Given the description of an element on the screen output the (x, y) to click on. 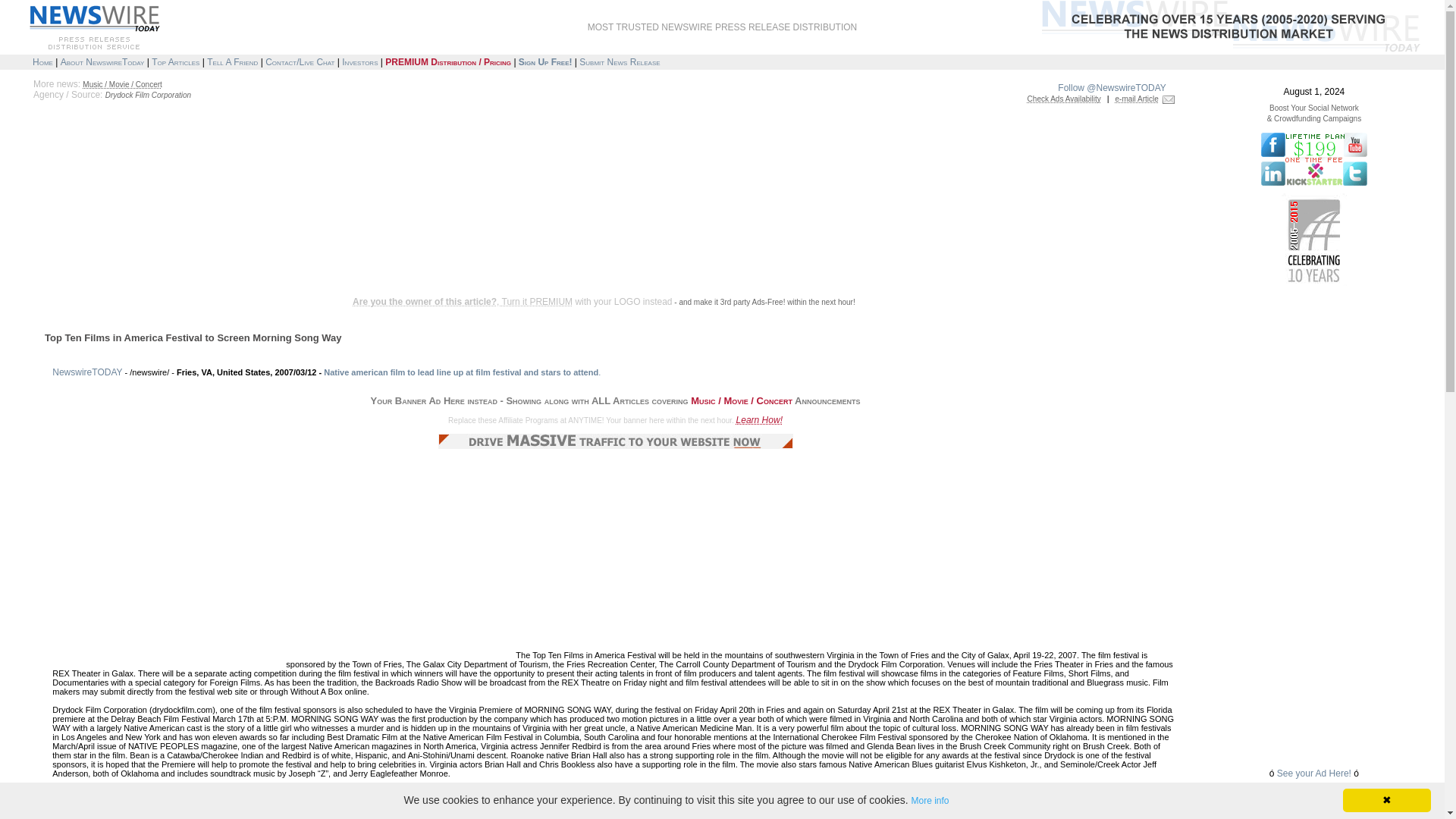
Home (42, 61)
About NewswireToday (102, 61)
About NewswireToday (102, 61)
Learn How! (759, 419)
NewswireToday Top Releases Article Press Release (175, 61)
Sign Up FREE! (545, 61)
Tell A Friend (231, 61)
Sign Up Free! (545, 61)
